Given the description of an element on the screen output the (x, y) to click on. 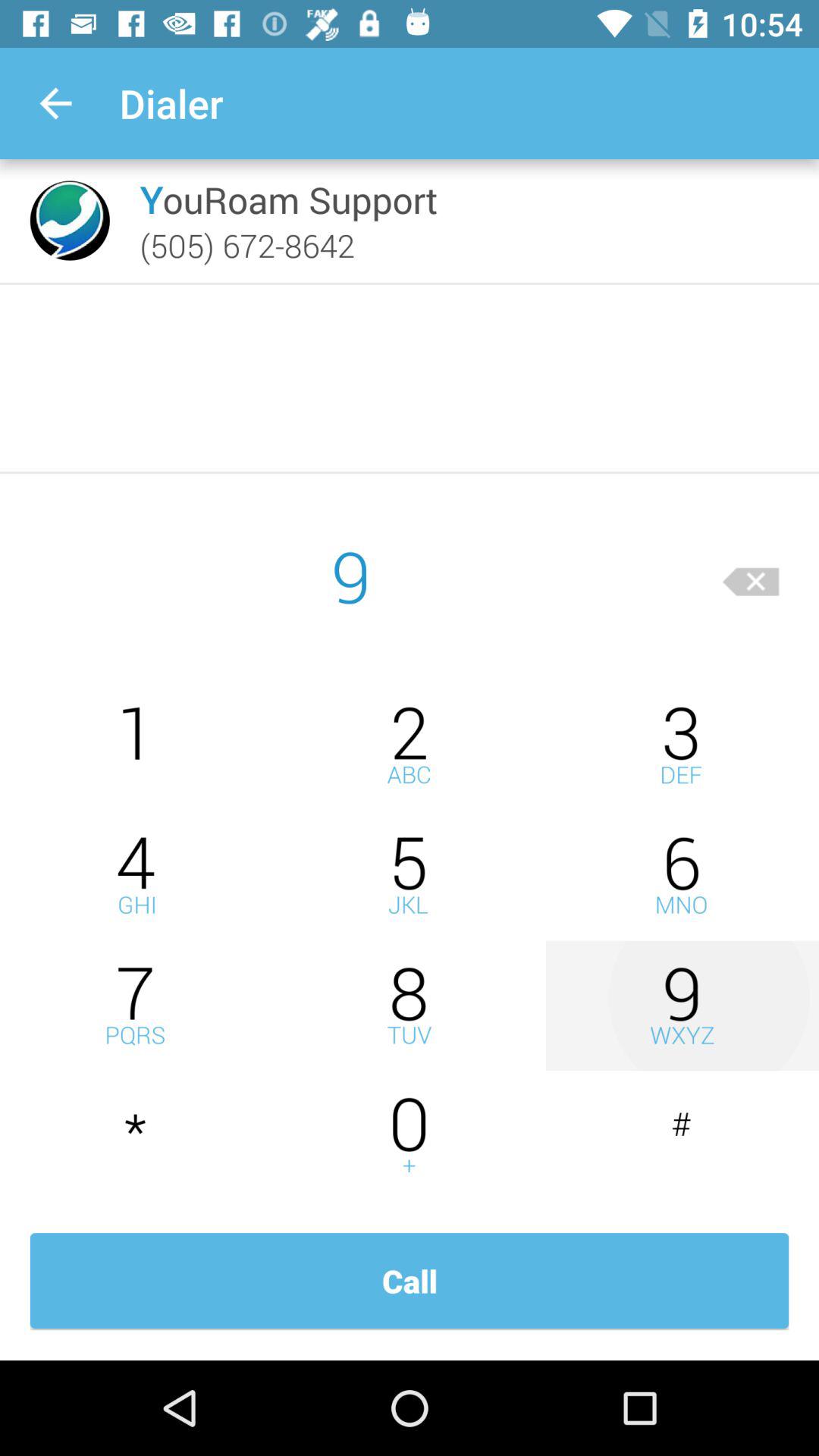
press icon next to the youroam support item (69, 220)
